Given the description of an element on the screen output the (x, y) to click on. 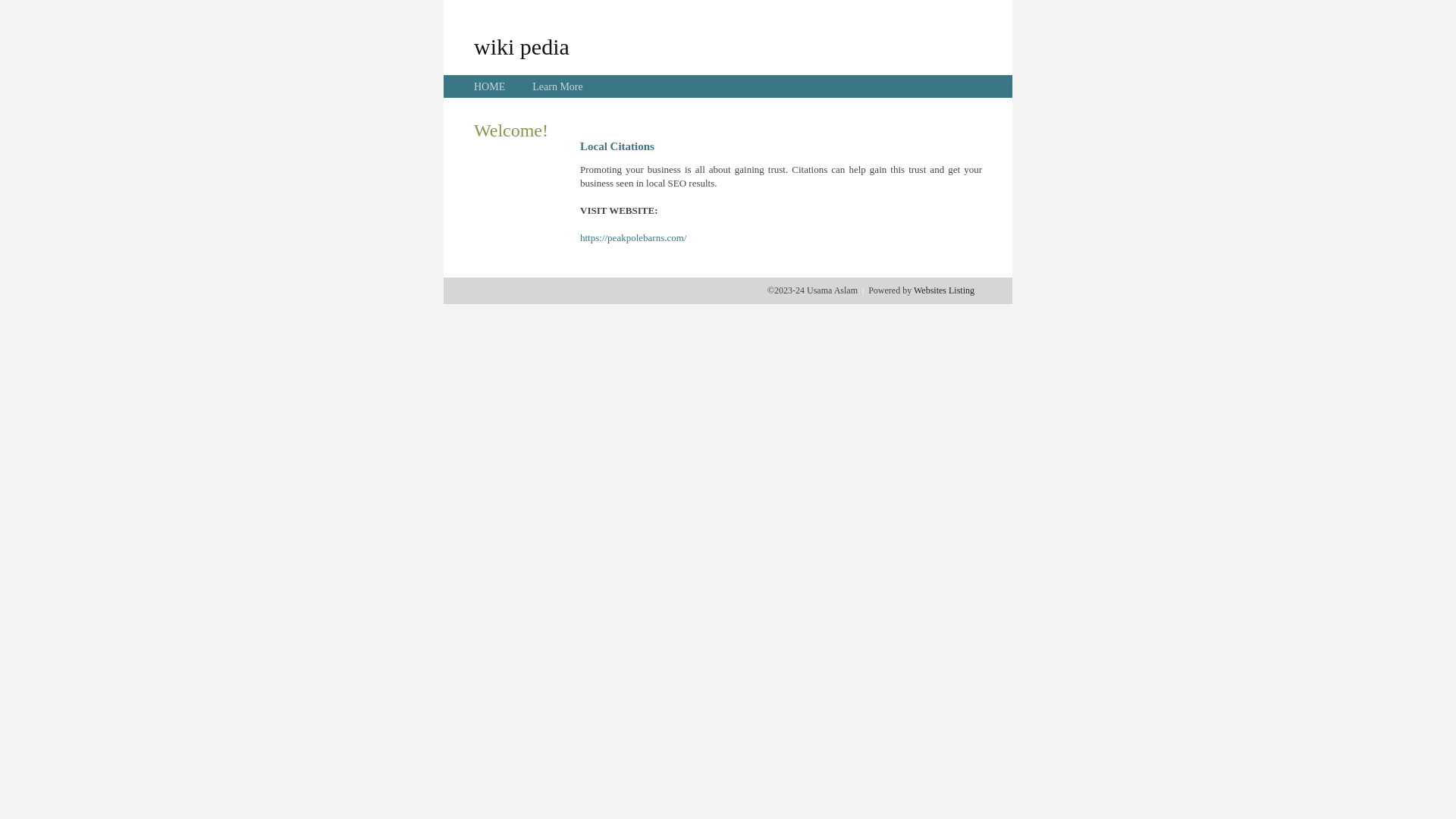
Websites Listing Element type: text (943, 290)
wiki pedia Element type: text (521, 46)
https://peakpolebarns.com/ Element type: text (633, 237)
HOME Element type: text (489, 86)
Learn More Element type: text (557, 86)
